Given the description of an element on the screen output the (x, y) to click on. 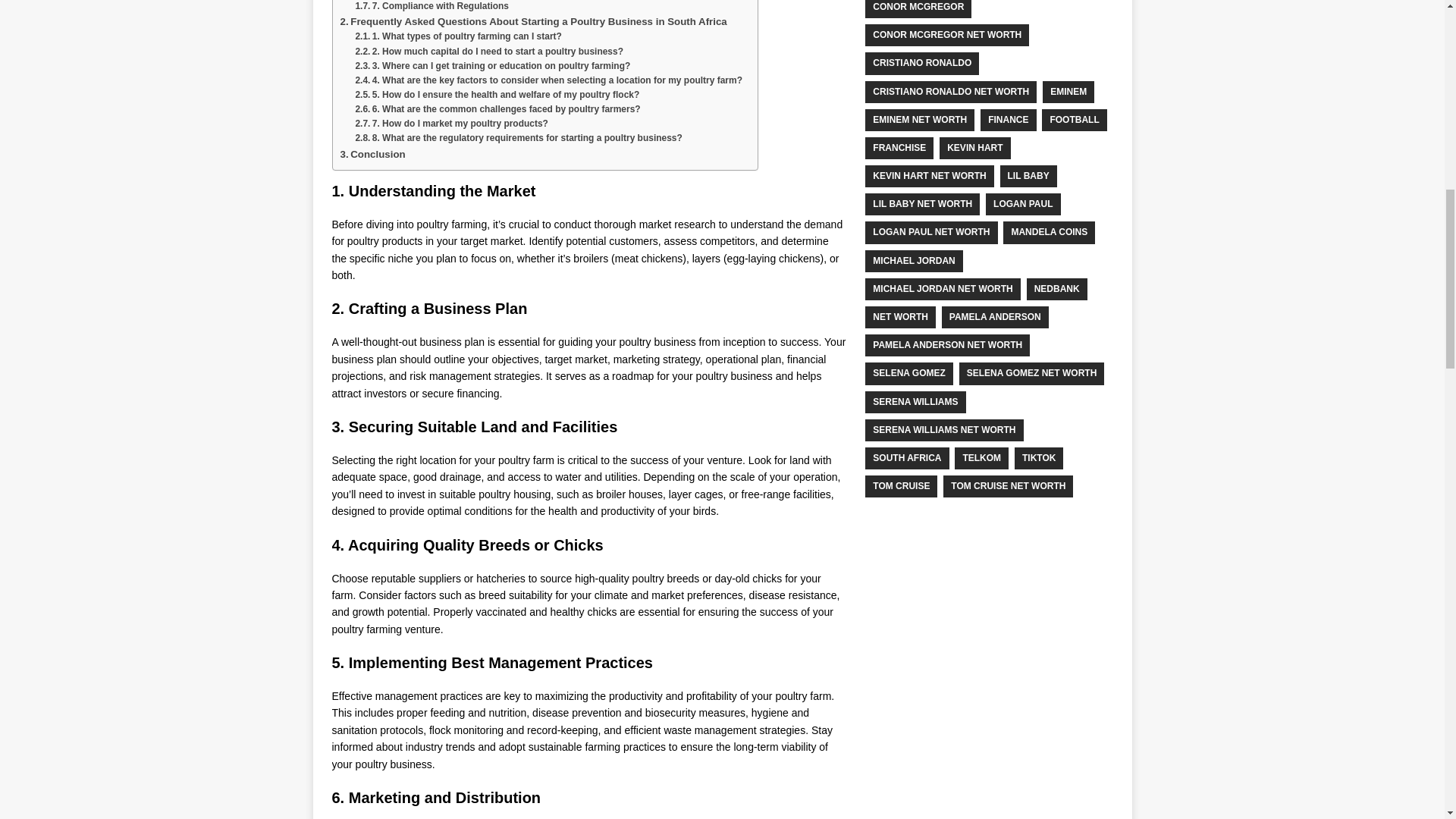
3. Where can I get training or education on poultry farming? (492, 65)
7. Compliance with Regulations (431, 6)
2. How much capital do I need to start a poultry business? (489, 51)
3. Where can I get training or education on poultry farming? (492, 65)
7. Compliance with Regulations (431, 6)
1. What types of poultry farming can I start? (457, 36)
6. What are the common challenges faced by poultry farmers? (497, 109)
